Given the description of an element on the screen output the (x, y) to click on. 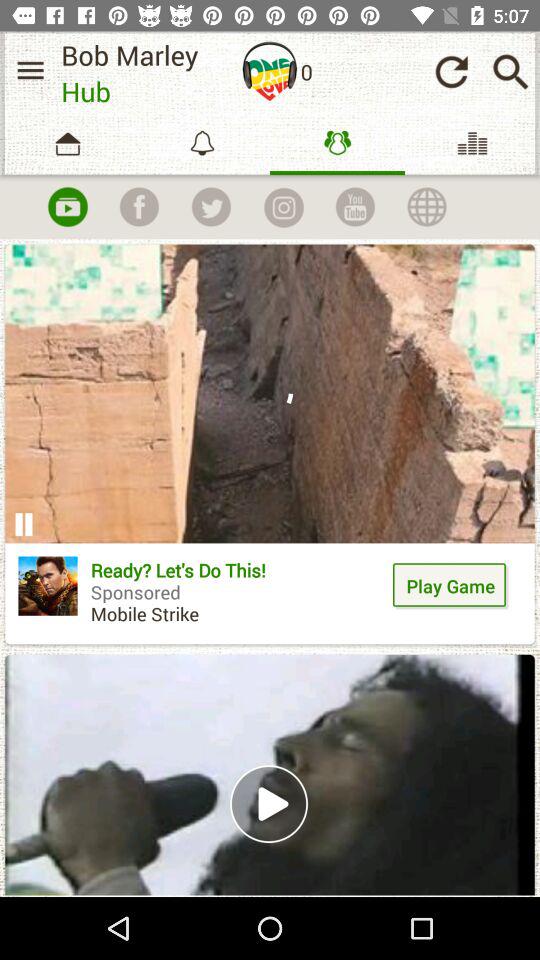
turn on item on the right (450, 586)
